Given the description of an element on the screen output the (x, y) to click on. 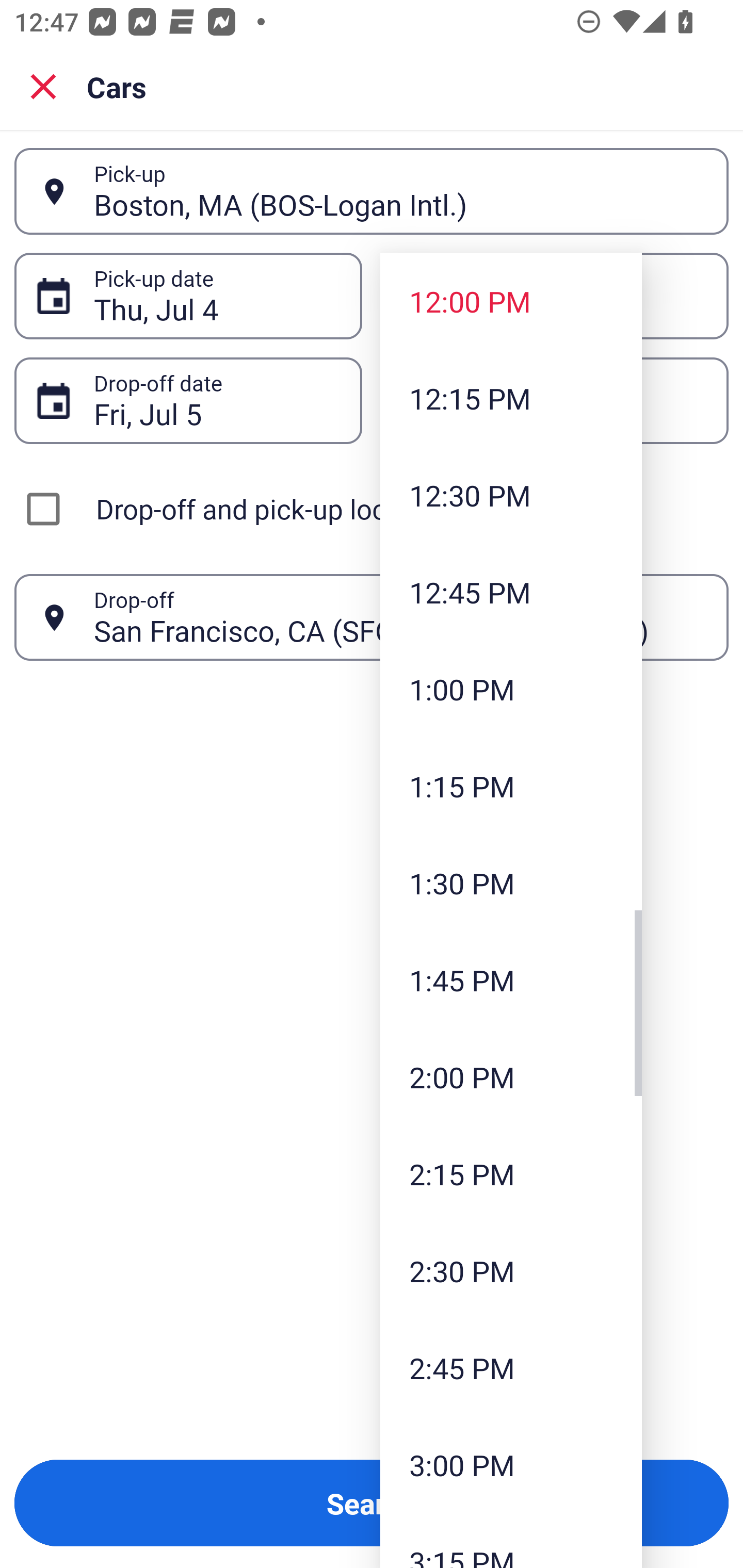
12:00 PM (510, 300)
12:15 PM (510, 397)
12:30 PM (510, 495)
12:45 PM (510, 592)
1:00 PM (510, 688)
1:15 PM (510, 785)
1:30 PM (510, 882)
1:45 PM (510, 979)
2:00 PM (510, 1076)
2:15 PM (510, 1174)
2:30 PM (510, 1270)
2:45 PM (510, 1366)
3:00 PM (510, 1464)
